Given the description of an element on the screen output the (x, y) to click on. 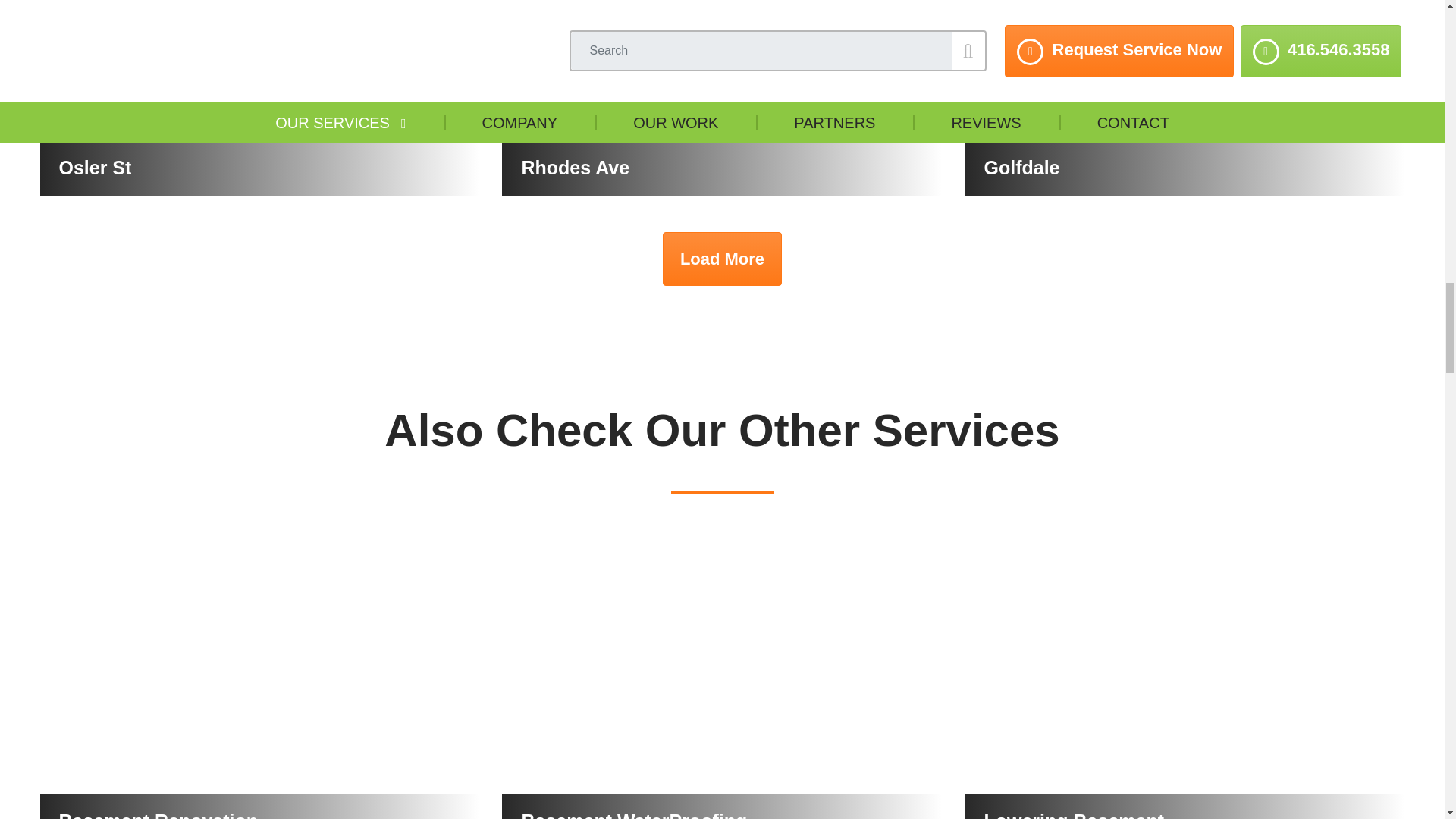
Basement WaterProofing (722, 674)
Rhodes Ave (722, 97)
Golfdale (1184, 97)
Osler St (259, 97)
Load More (721, 258)
Basement Renovation (259, 674)
Lowering Basement (1184, 674)
